Given the description of an element on the screen output the (x, y) to click on. 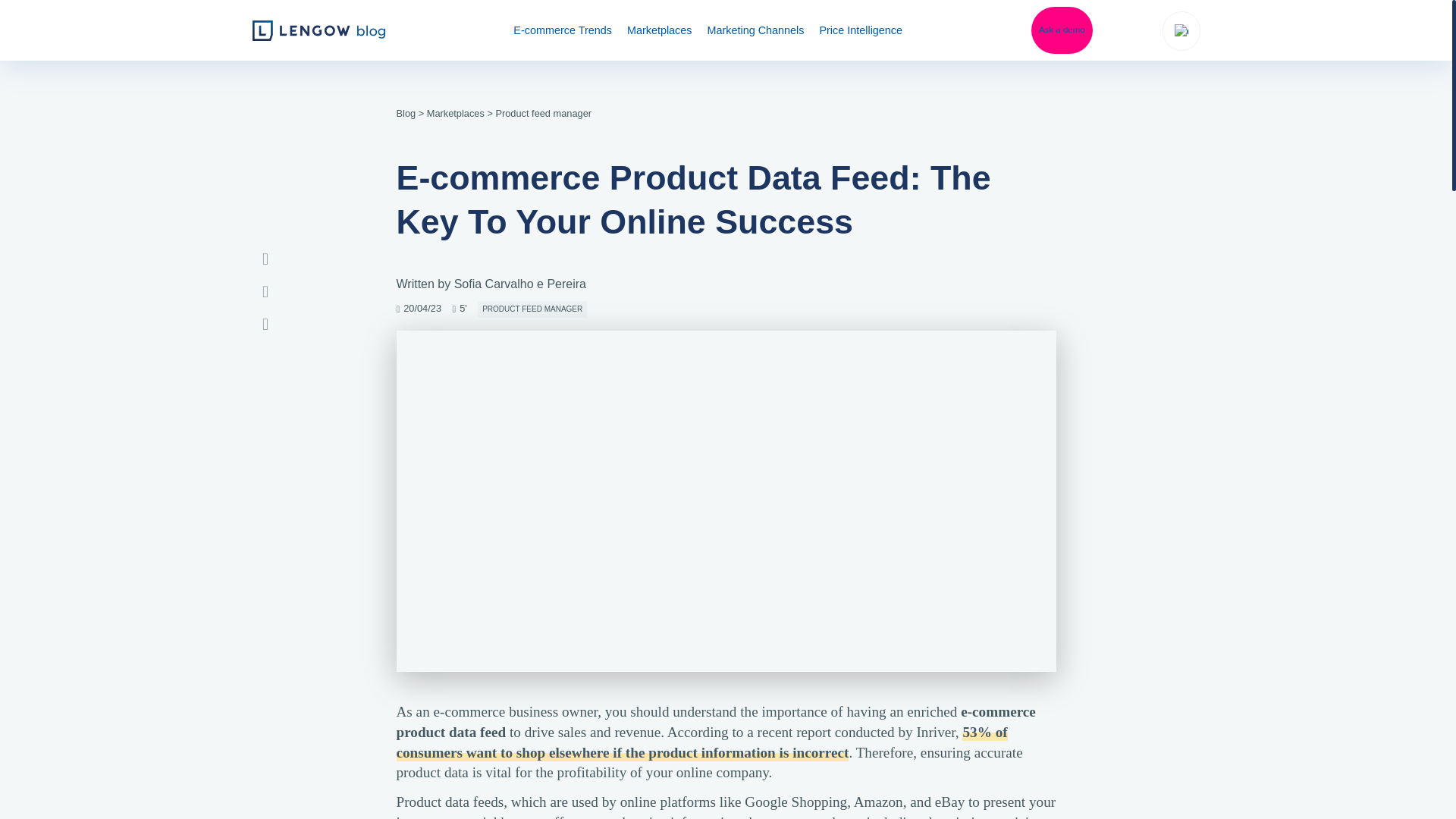
Product feed manager (543, 112)
Marketplaces (455, 112)
PRODUCT FEED MANAGER (531, 309)
Marketing Channels (754, 30)
Blog (405, 112)
Price Intelligence (860, 30)
Marketplaces (660, 30)
Ask a demo (1061, 30)
E-commerce Trends (562, 30)
